Given the description of an element on the screen output the (x, y) to click on. 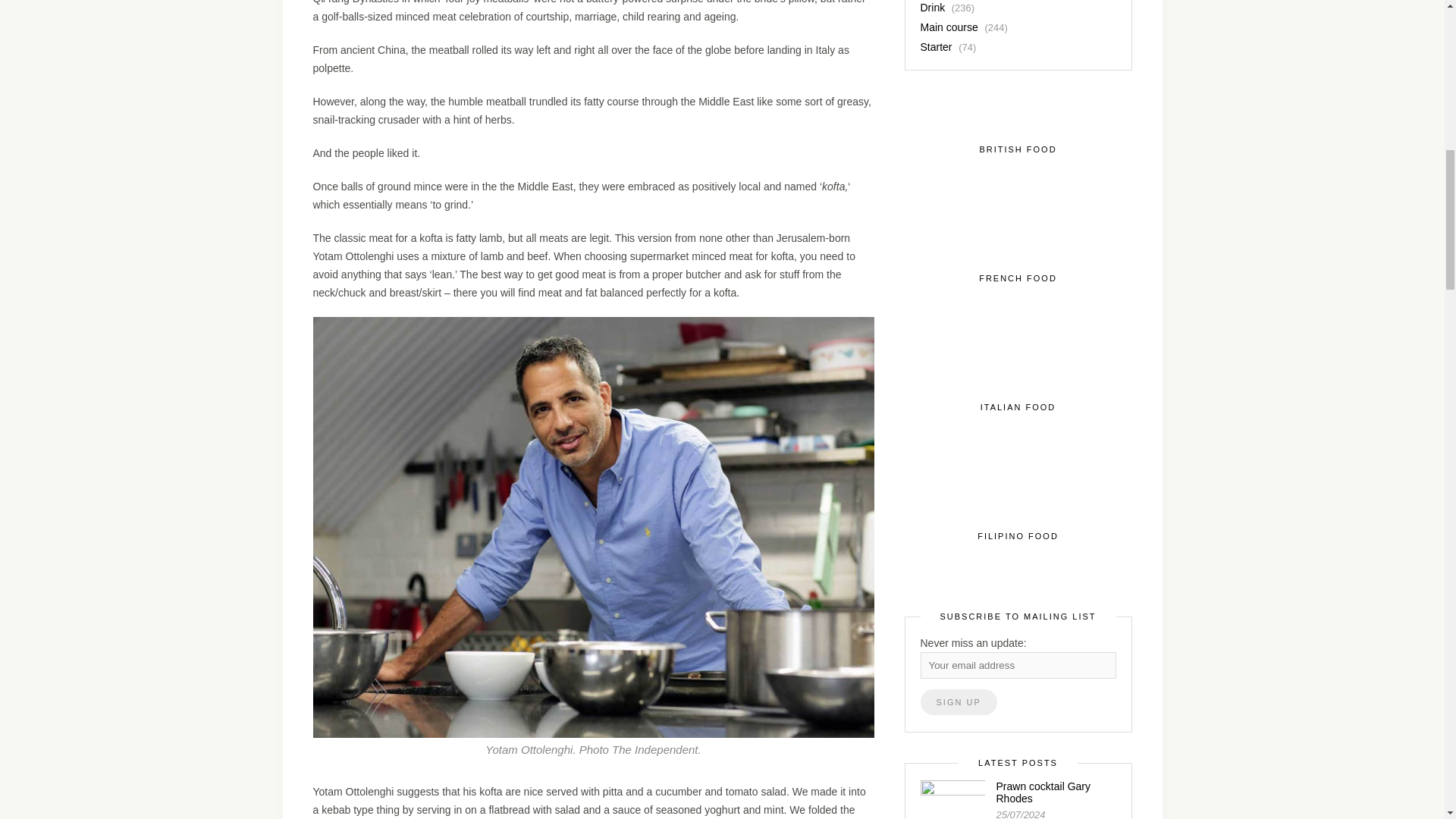
Sign up (958, 701)
